Given the description of an element on the screen output the (x, y) to click on. 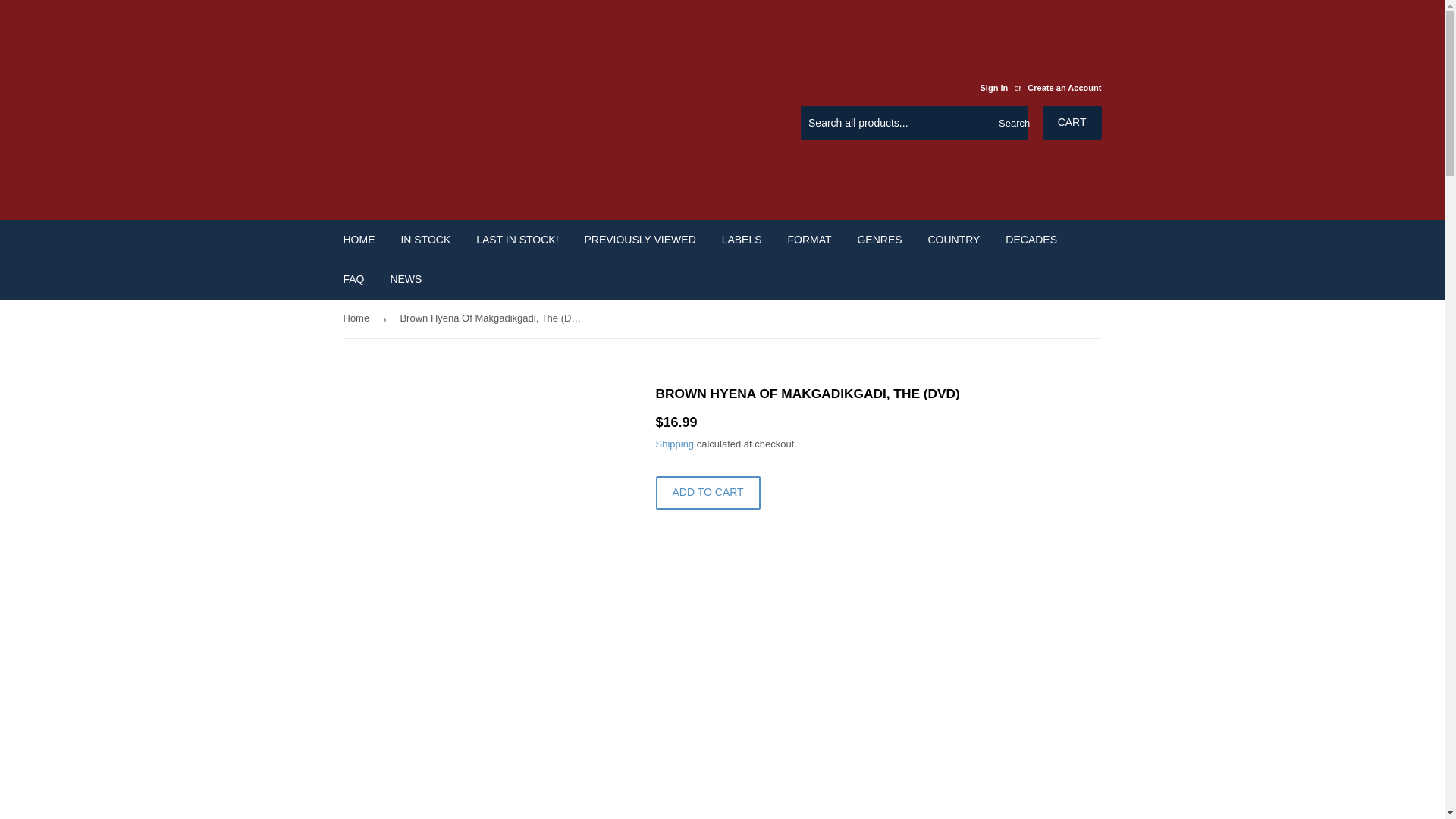
Search (1010, 123)
CART (1072, 122)
Create an Account (1063, 87)
YouTube video player (867, 728)
Sign in (993, 87)
